Given the description of an element on the screen output the (x, y) to click on. 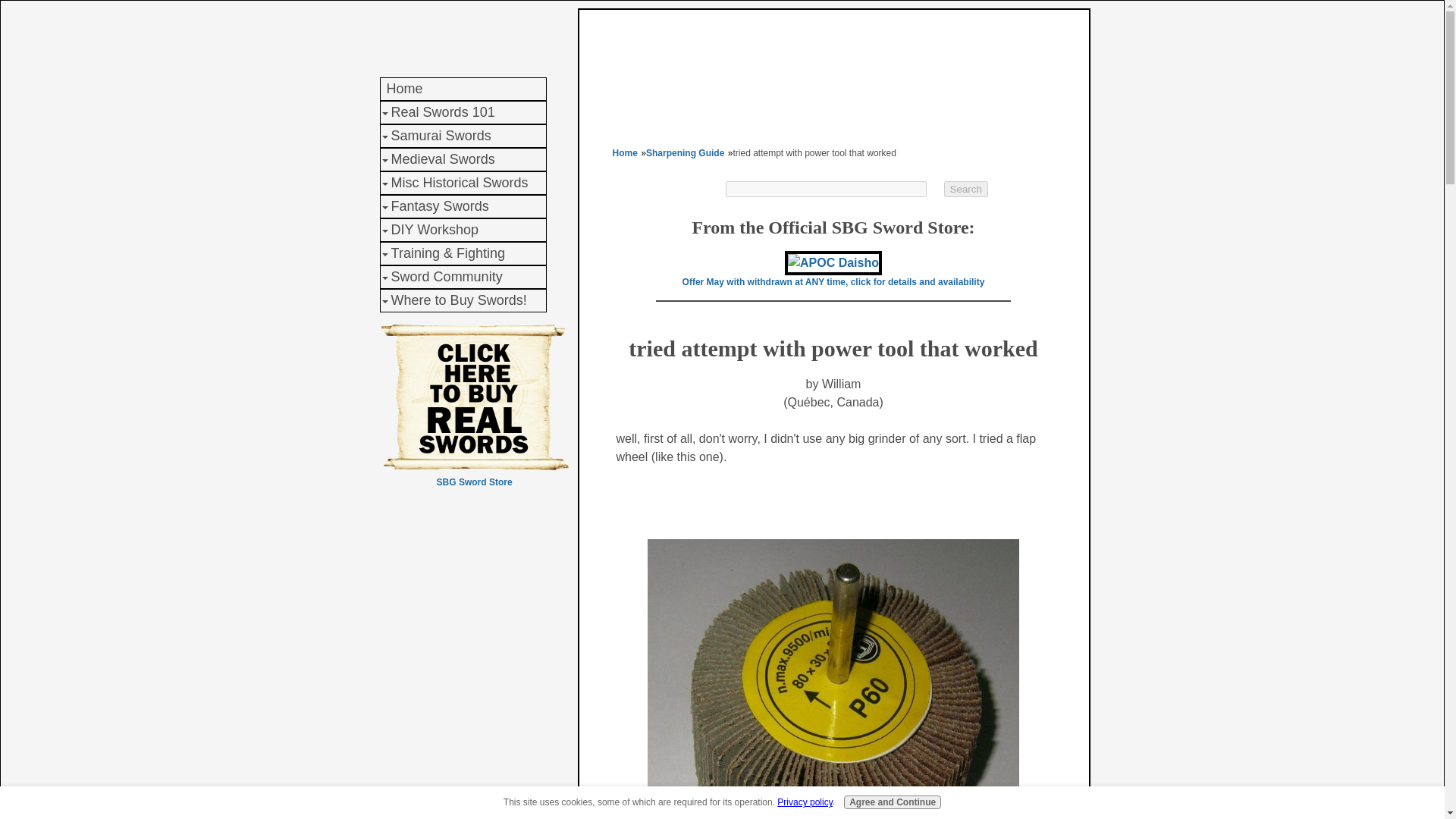
Home (463, 88)
Flap Wheel (833, 678)
Search (965, 188)
APOC Daisho (833, 262)
